Given the description of an element on the screen output the (x, y) to click on. 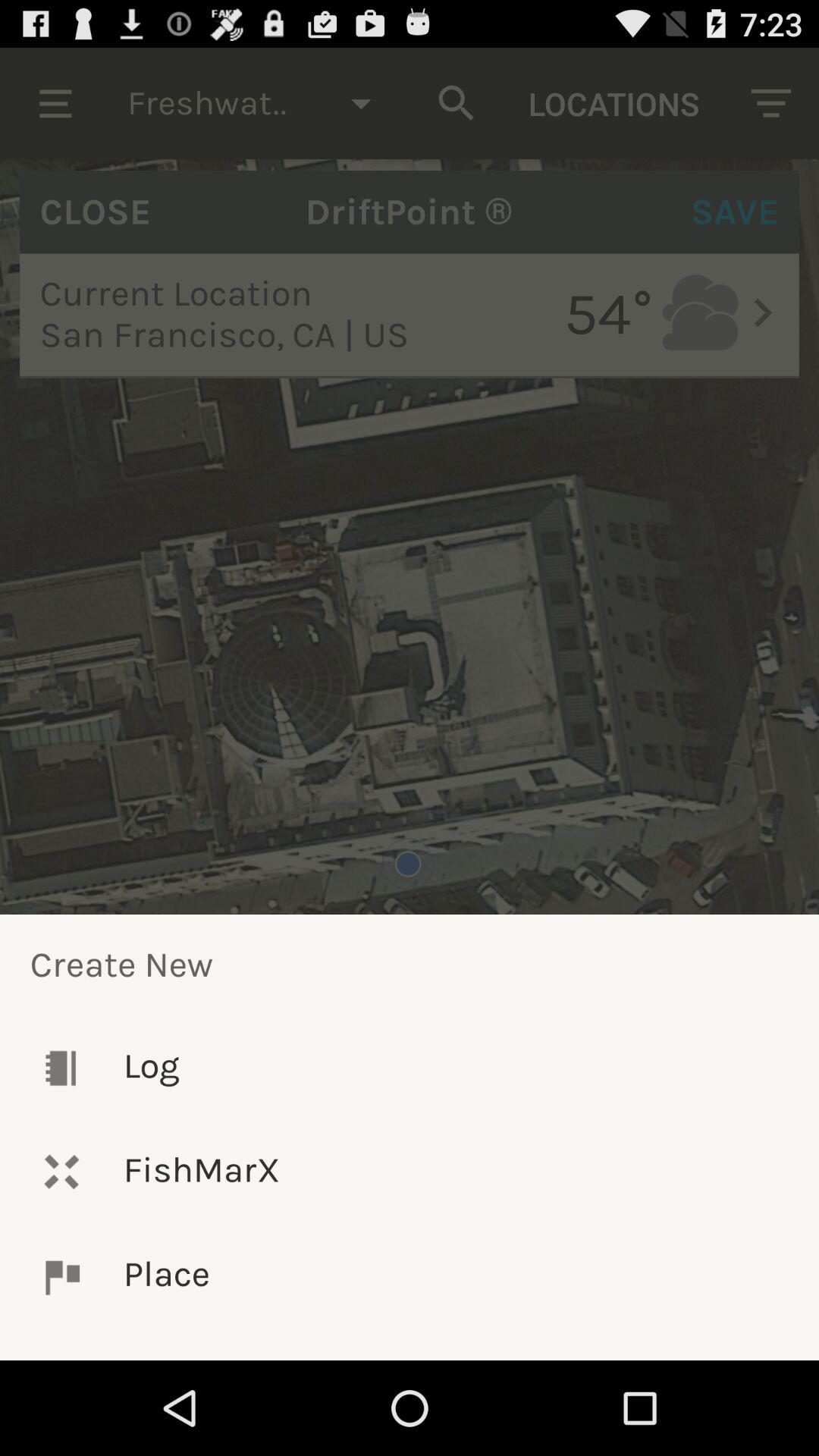
jump to the place (409, 1276)
